Given the description of an element on the screen output the (x, y) to click on. 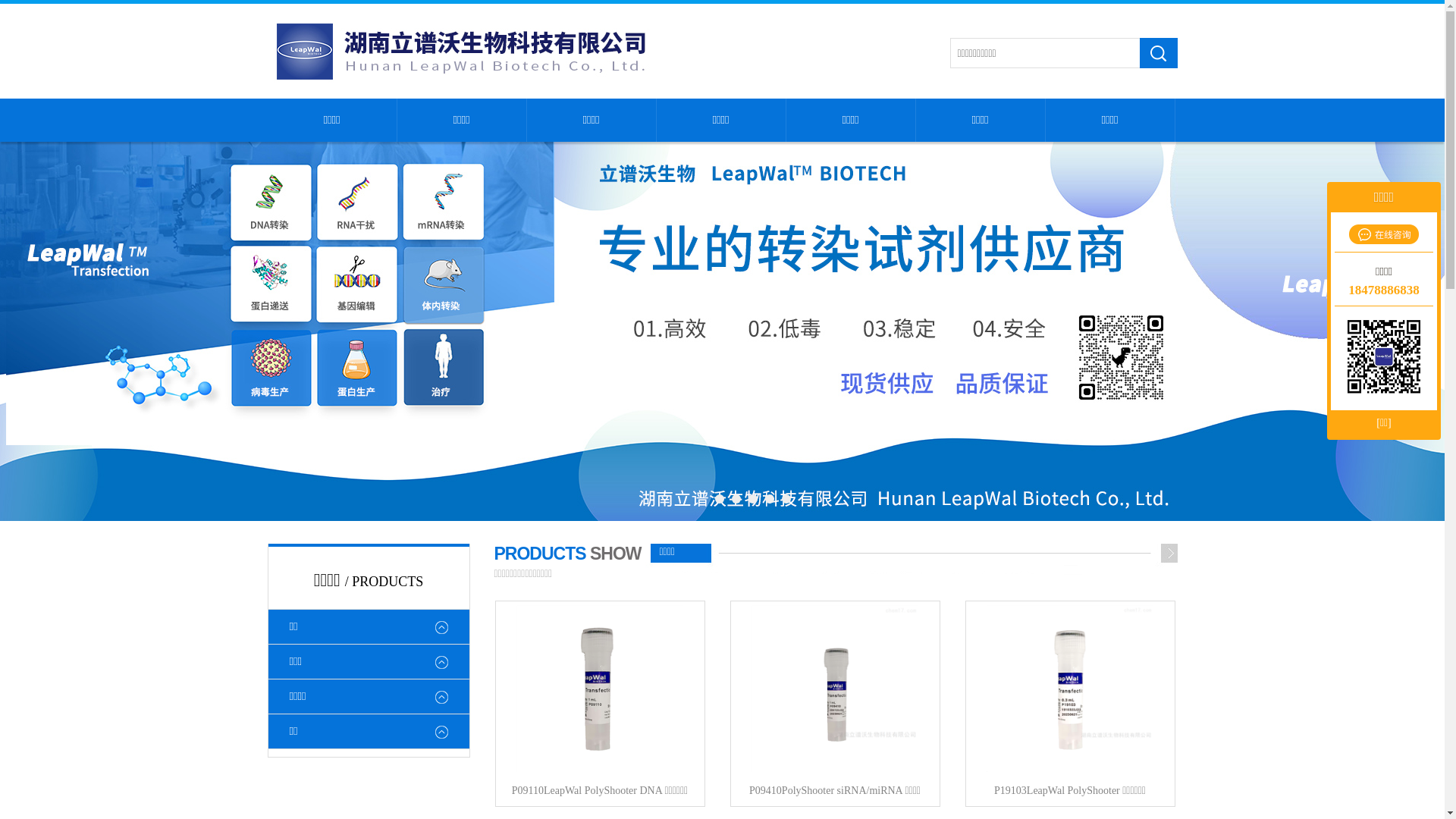
  Element type: text (1157, 52)
